Given the description of an element on the screen output the (x, y) to click on. 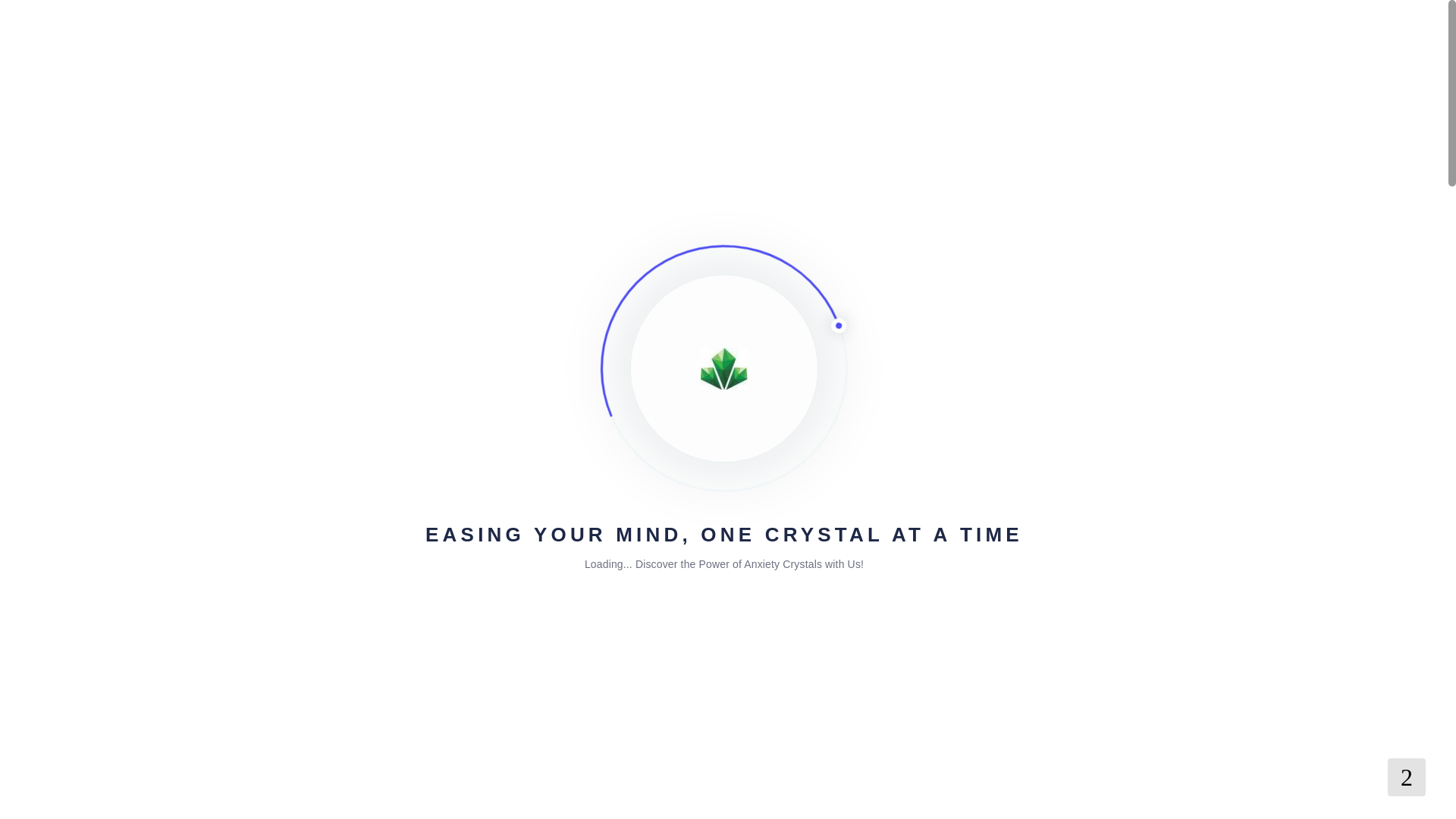
Clarity (770, 799)
Ask Question (882, 473)
Decision Making (585, 799)
Intuition (654, 799)
General (418, 314)
Home (294, 314)
Back to Top (1406, 777)
Community (353, 314)
Crystals (407, 799)
Anxiety (359, 799)
